Given the description of an element on the screen output the (x, y) to click on. 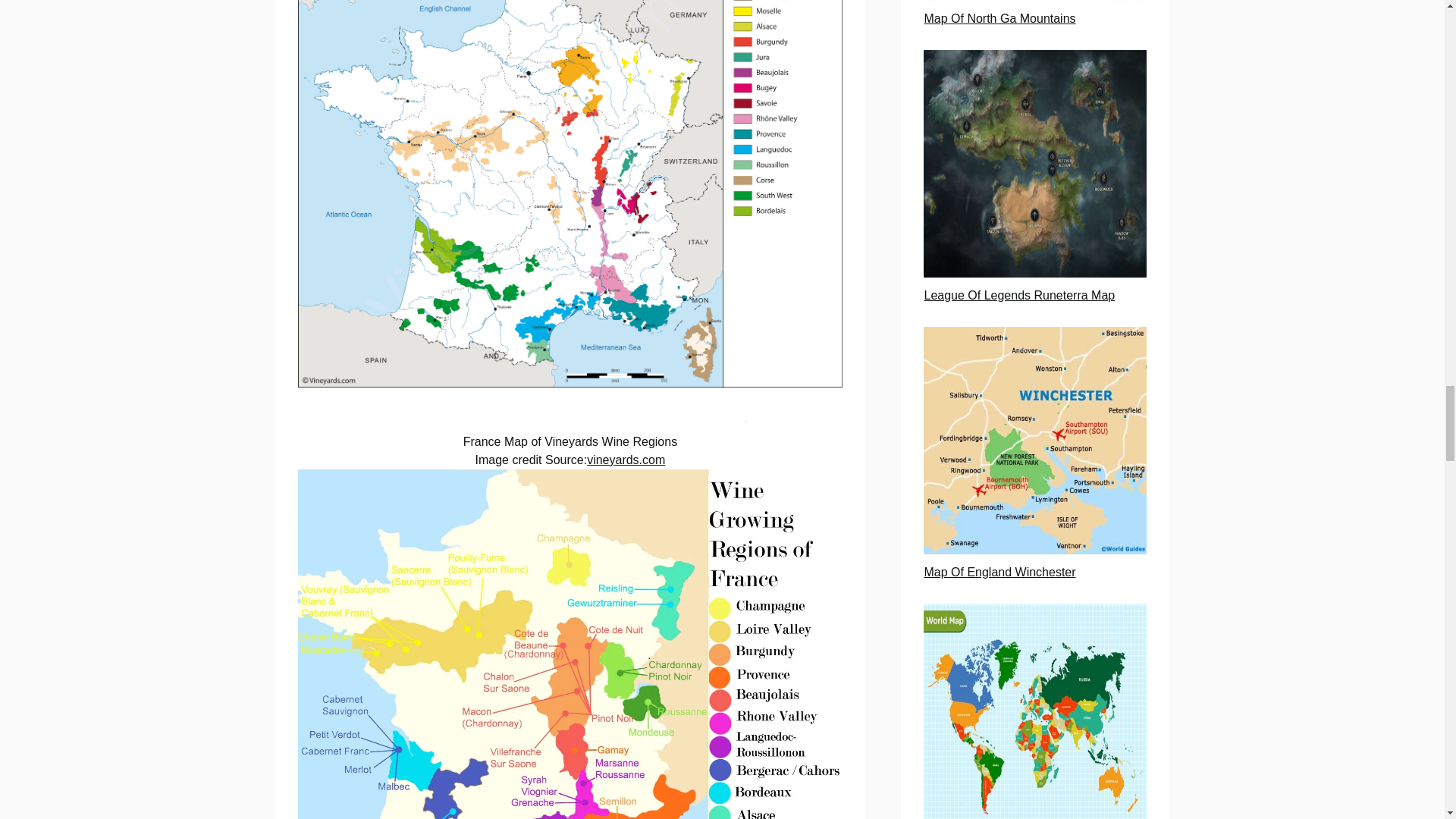
vineyards.com (625, 459)
